Given the description of an element on the screen output the (x, y) to click on. 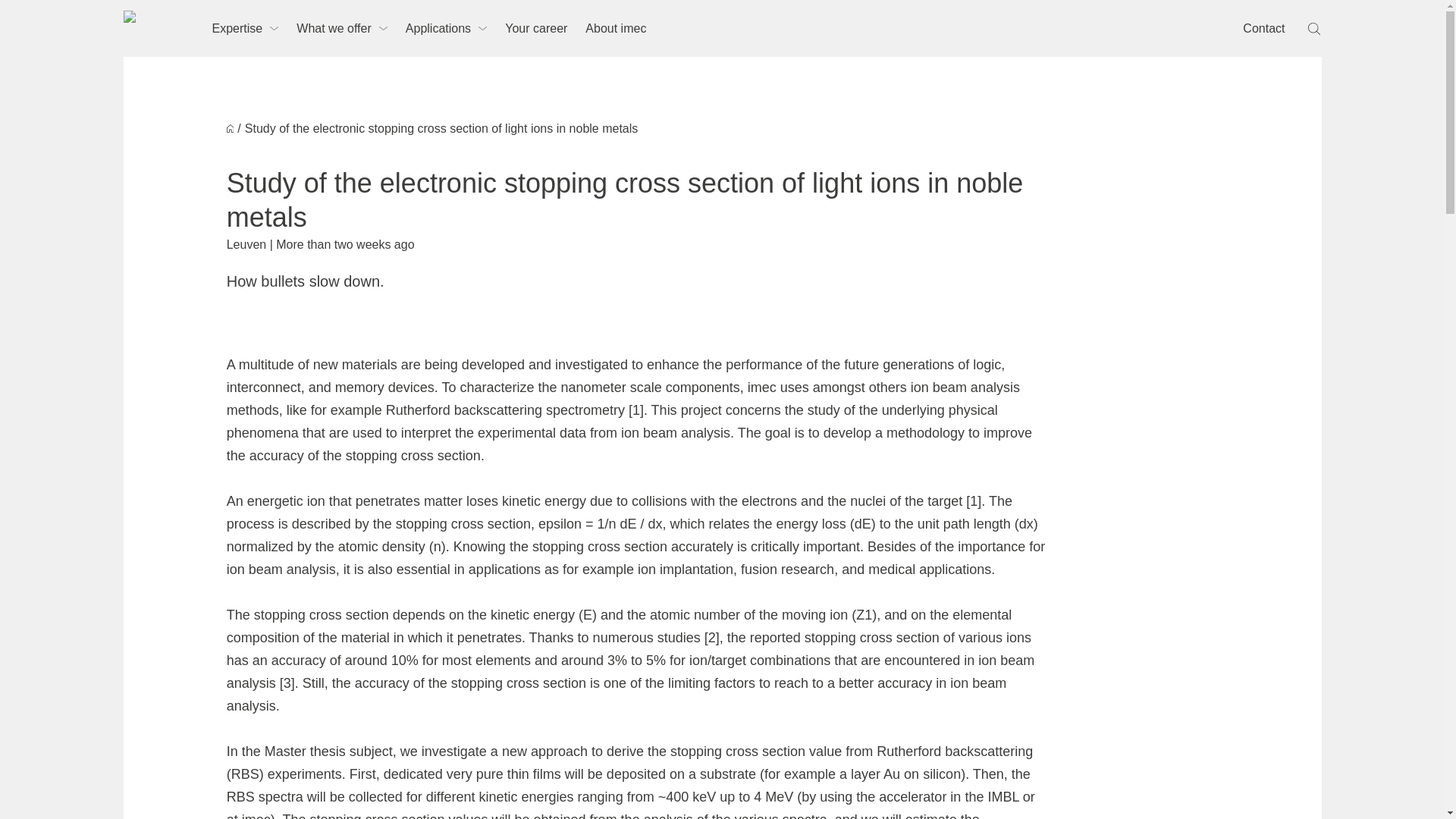
Expertise (245, 28)
What we offer (341, 28)
Search (1314, 28)
Contact (1263, 28)
Applications (446, 28)
About imec (615, 28)
Your career (536, 28)
Home (230, 128)
imec (150, 28)
